Given the description of an element on the screen output the (x, y) to click on. 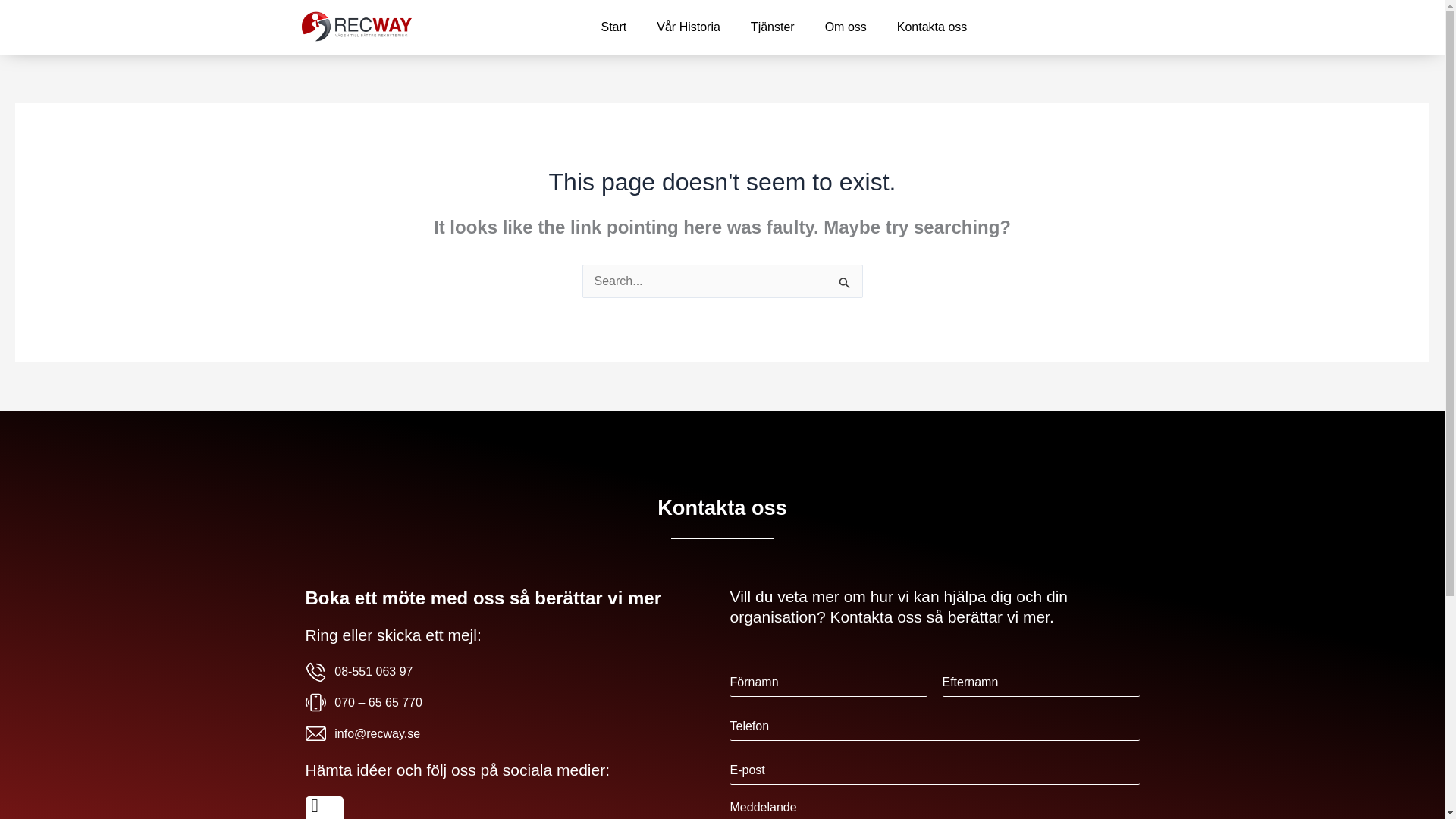
Om oss (845, 27)
Kontakta oss (932, 27)
Linkedin (323, 807)
08-551 063 97 (509, 671)
Start (613, 27)
